Given the description of an element on the screen output the (x, y) to click on. 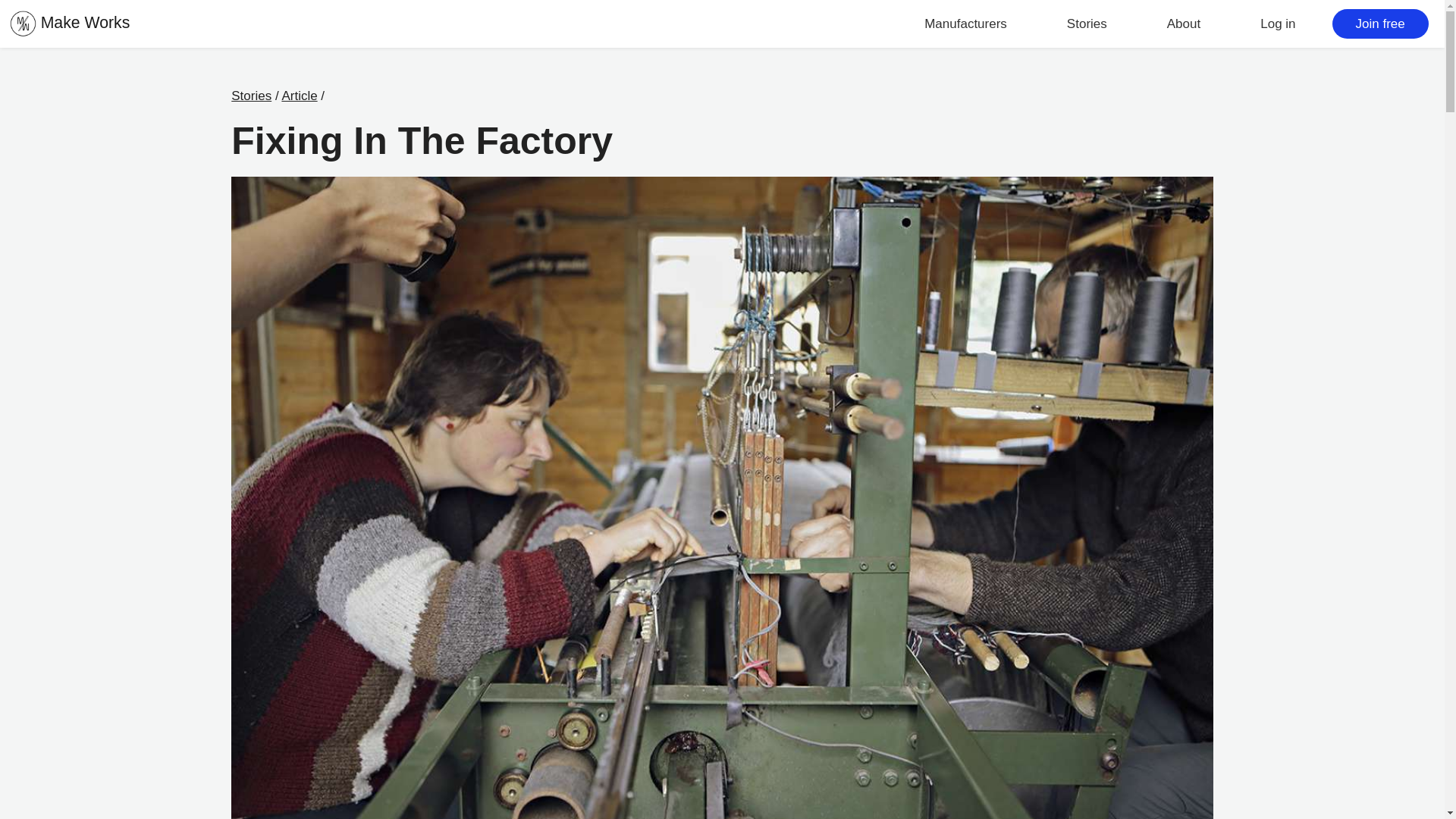
Log in (1277, 24)
Manufacturers (965, 24)
Stories (1087, 24)
Make Works (70, 22)
Join free (1380, 24)
Article (299, 95)
Stories (250, 95)
About (1183, 24)
